Given the description of an element on the screen output the (x, y) to click on. 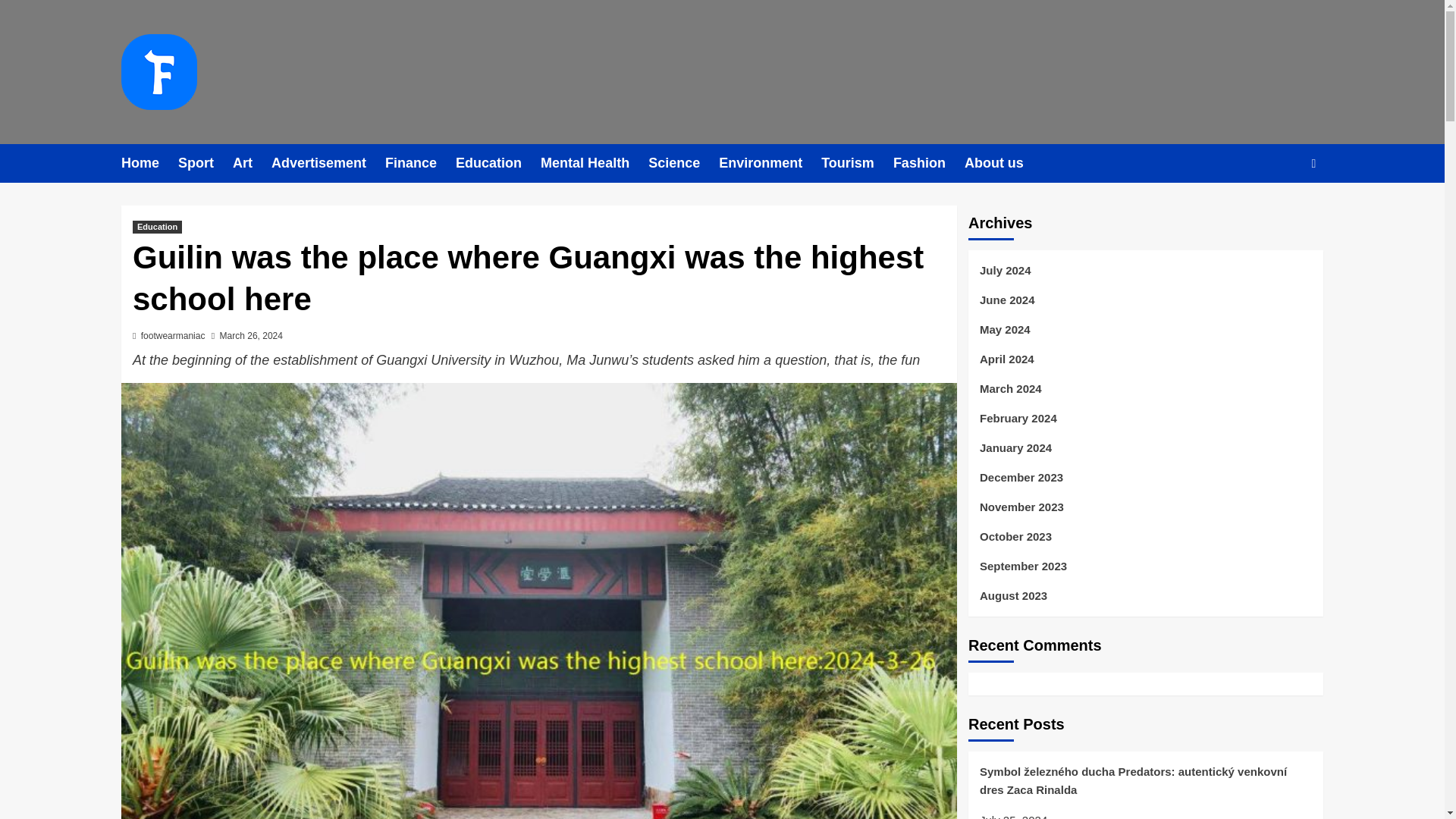
Art (251, 163)
Education (497, 163)
Sport (204, 163)
Education (157, 226)
Search (1313, 162)
footwearmaniac (173, 335)
About us (1002, 163)
Fashion (928, 163)
Search (1278, 209)
Home (148, 163)
March 26, 2024 (250, 335)
Mental Health (593, 163)
Environment (770, 163)
Tourism (857, 163)
Science (683, 163)
